Given the description of an element on the screen output the (x, y) to click on. 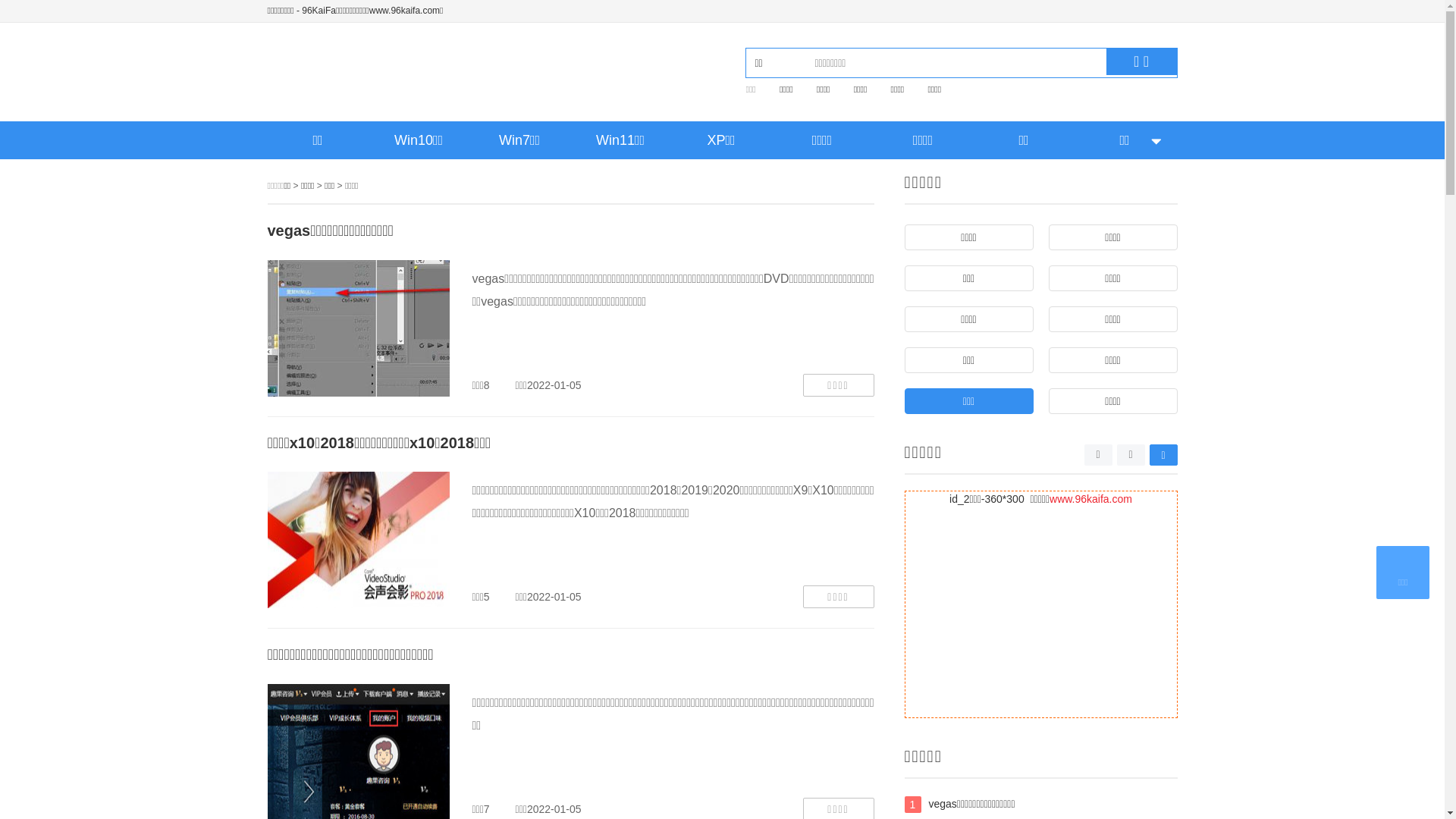
www.96kaifa.com Element type: text (1090, 498)
